Given the description of an element on the screen output the (x, y) to click on. 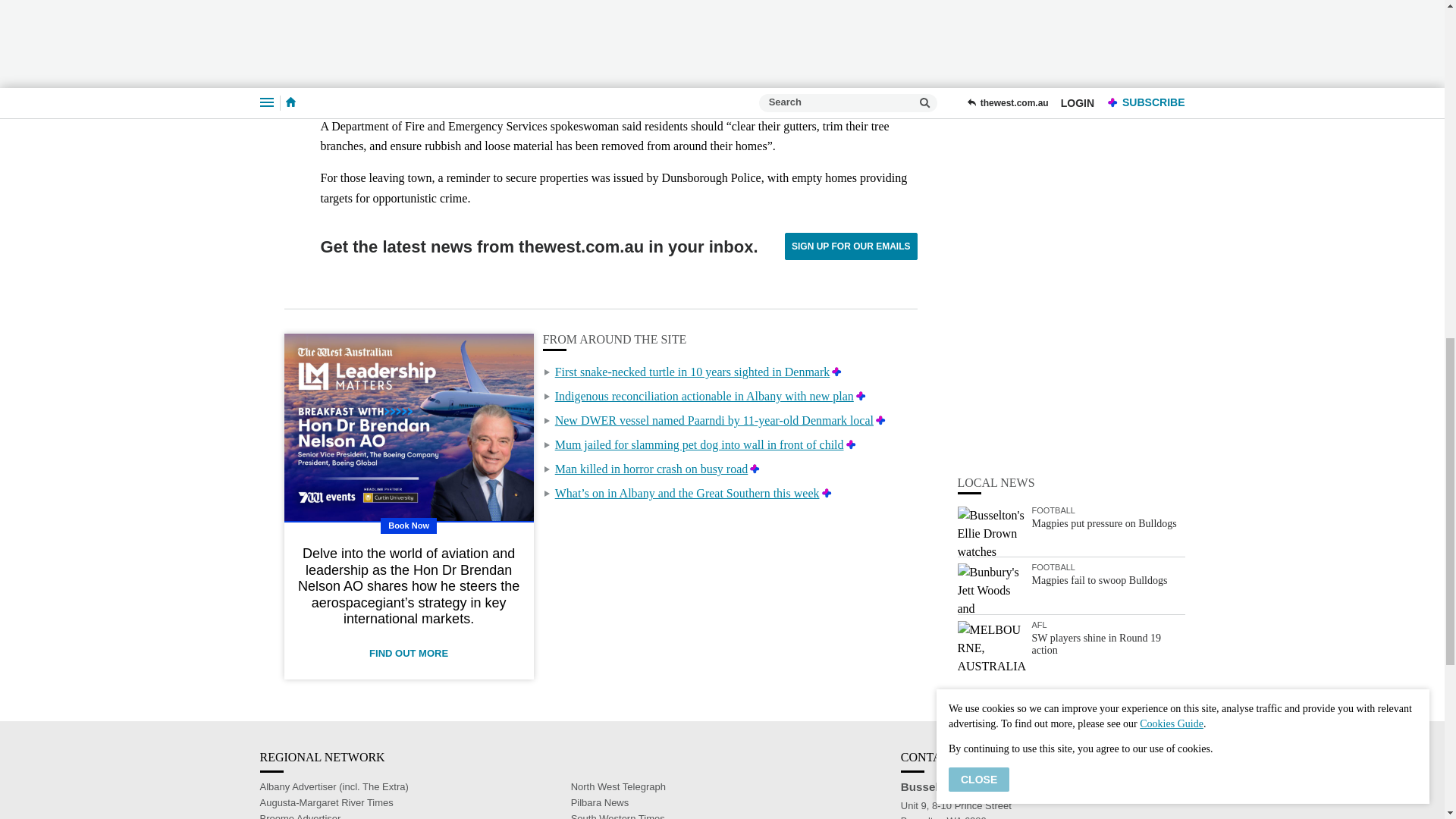
Premium (860, 395)
Premium (850, 444)
Premium (754, 468)
Premium (836, 371)
Premium (826, 492)
Premium (880, 420)
